Given the description of an element on the screen output the (x, y) to click on. 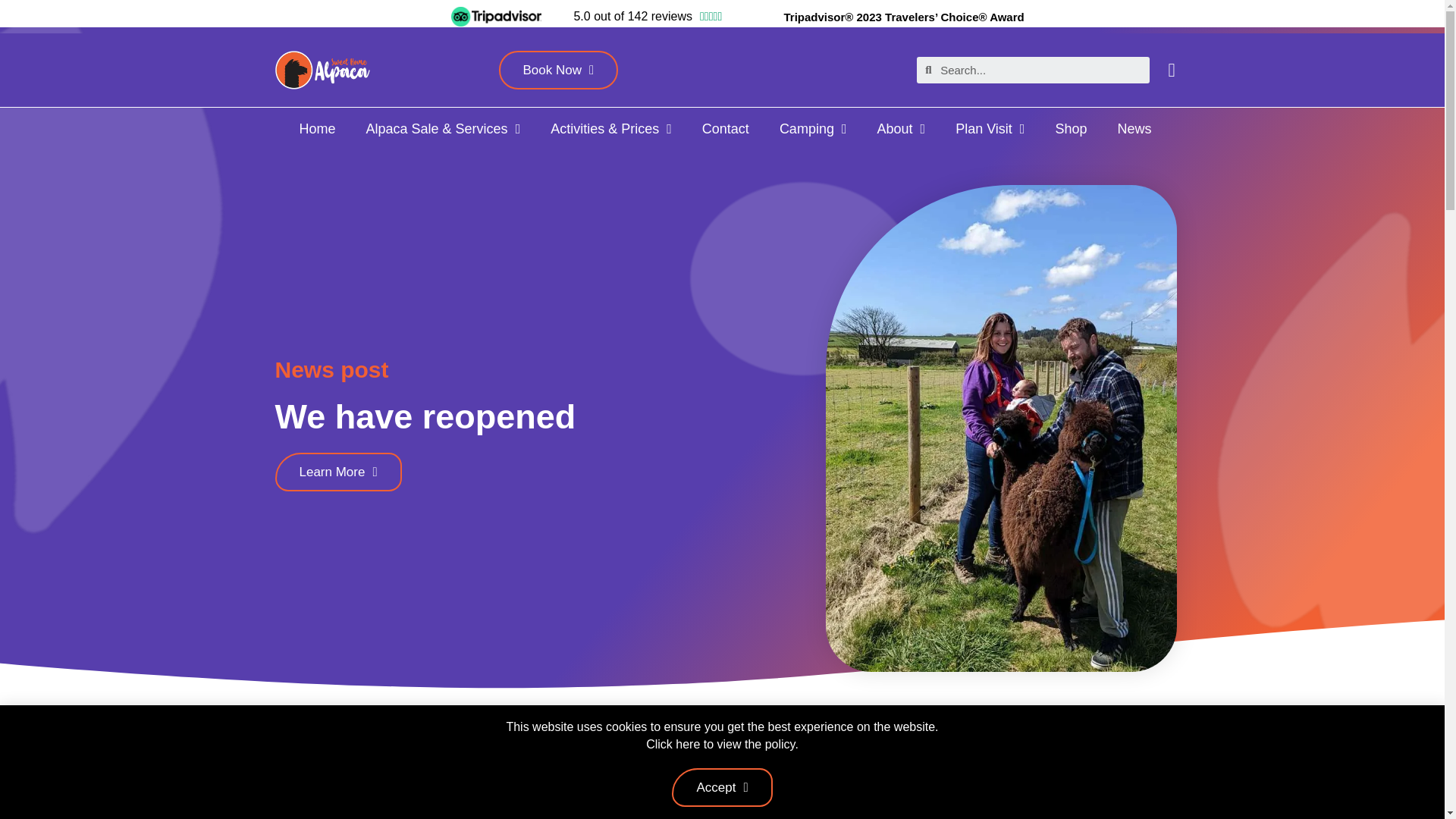
Book Now (558, 69)
News (1134, 128)
Shop (1070, 128)
Camping (812, 128)
Home (316, 128)
Plan Visit (989, 128)
About (900, 128)
Search (1040, 69)
Contact (725, 128)
